Given the description of an element on the screen output the (x, y) to click on. 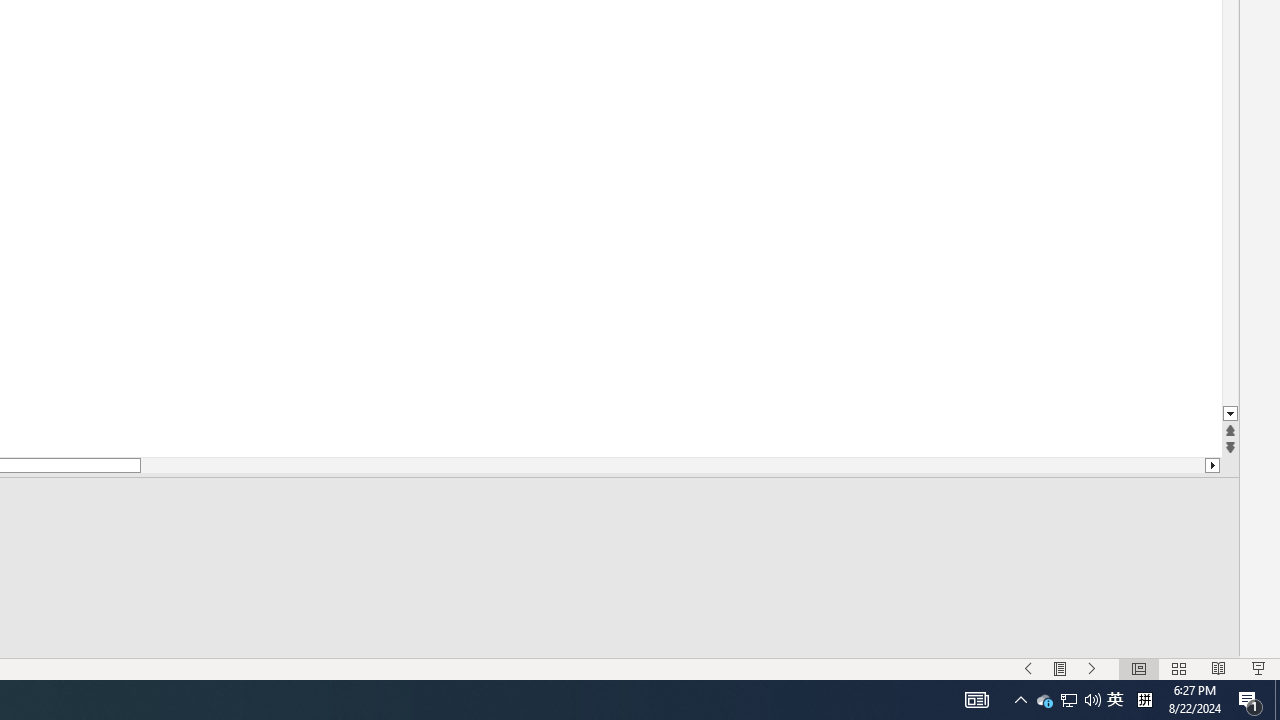
Notification Chevron (1020, 699)
